Given the description of an element on the screen output the (x, y) to click on. 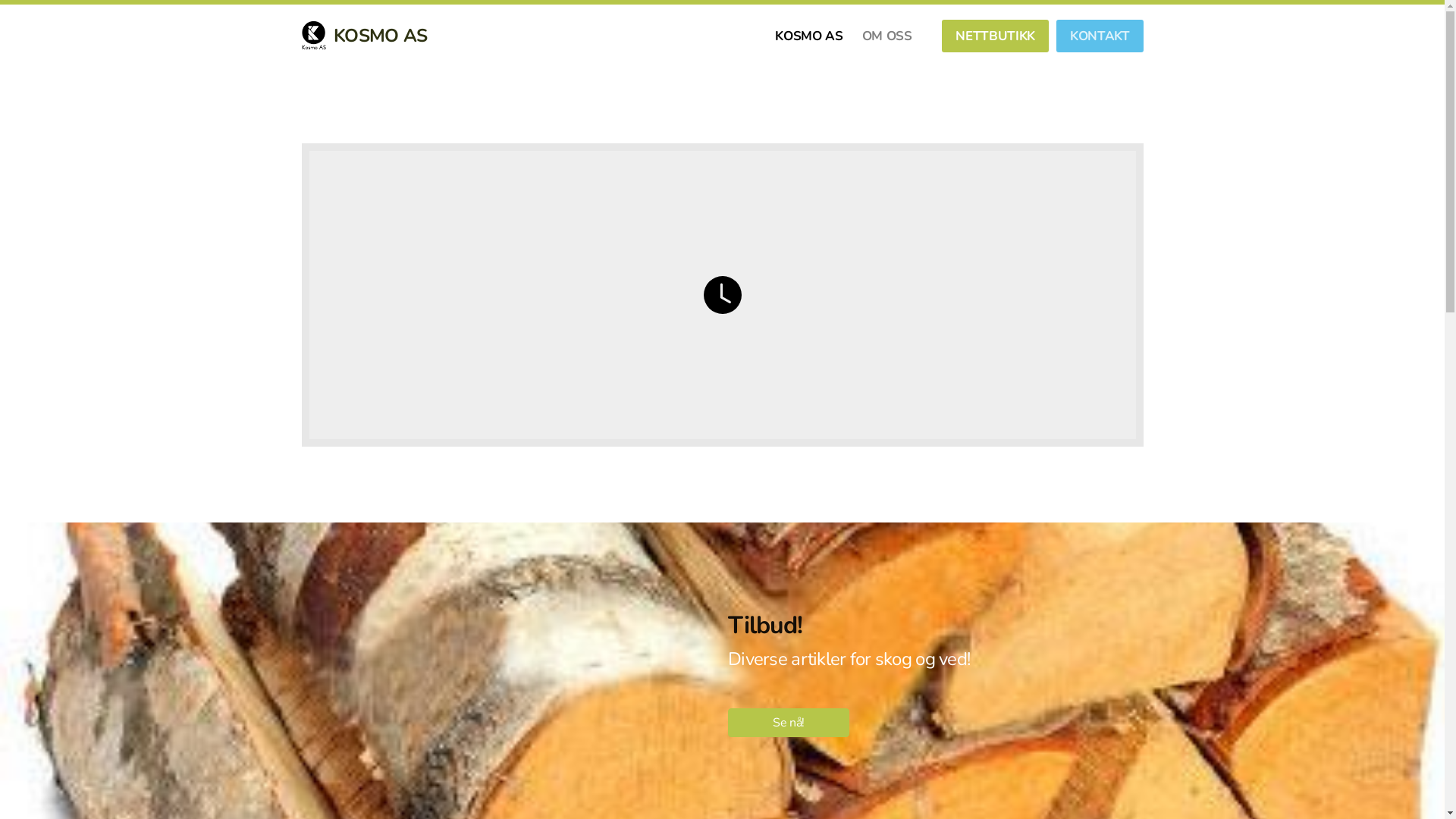
NETTBUTIKK Element type: text (994, 35)
KONTAKT Element type: text (1099, 35)
KOSMO AS Element type: text (364, 36)
OM OSS Element type: text (886, 35)
KOSMO AS Element type: text (808, 35)
